Given the description of an element on the screen output the (x, y) to click on. 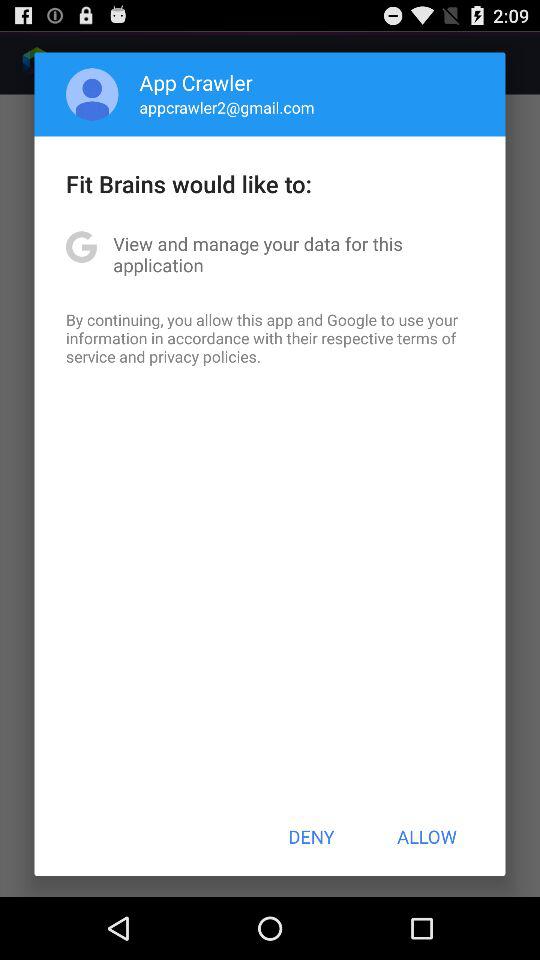
scroll until the view and manage item (269, 254)
